Given the description of an element on the screen output the (x, y) to click on. 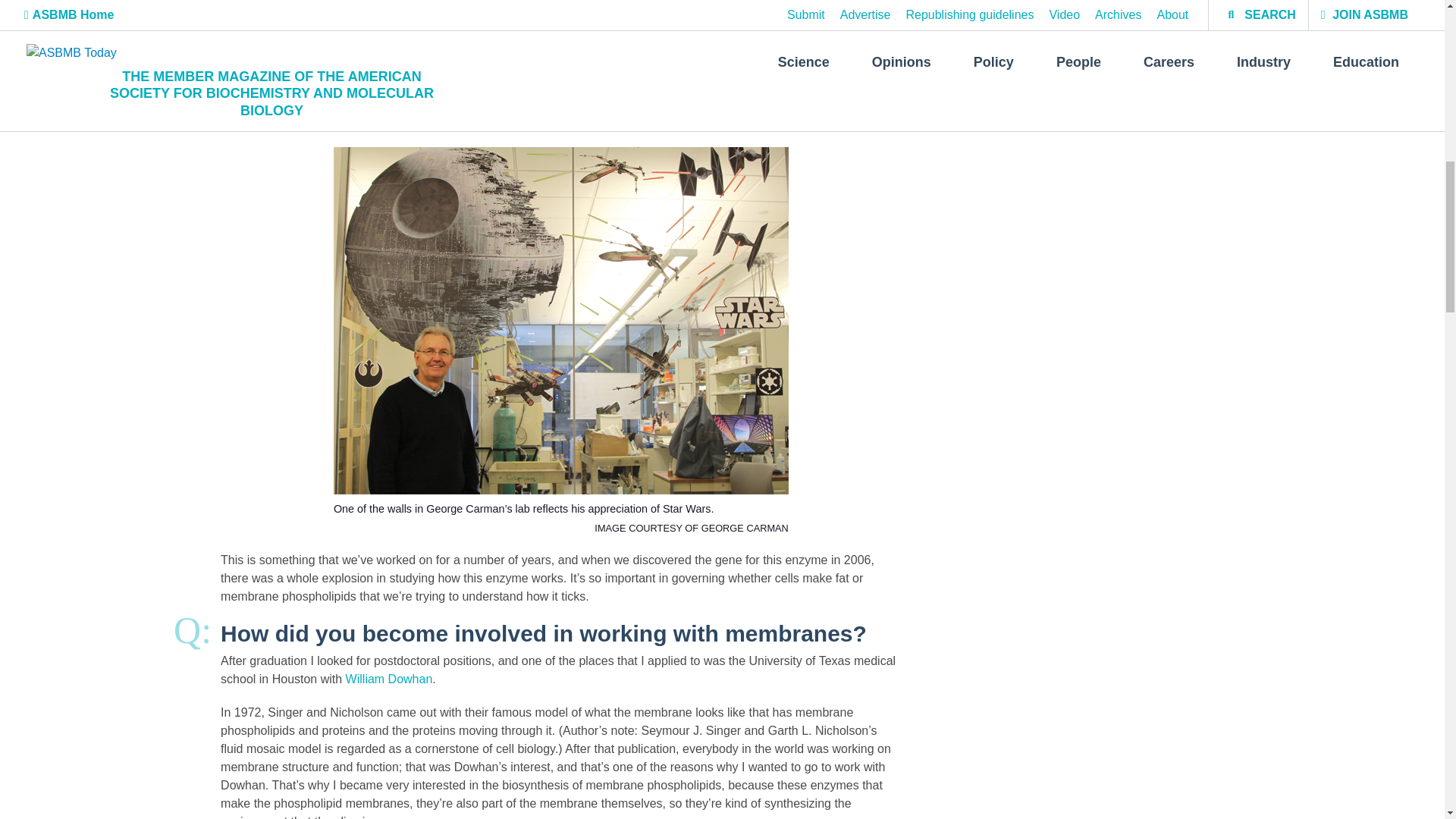
William Dowhan (389, 678)
